Given the description of an element on the screen output the (x, y) to click on. 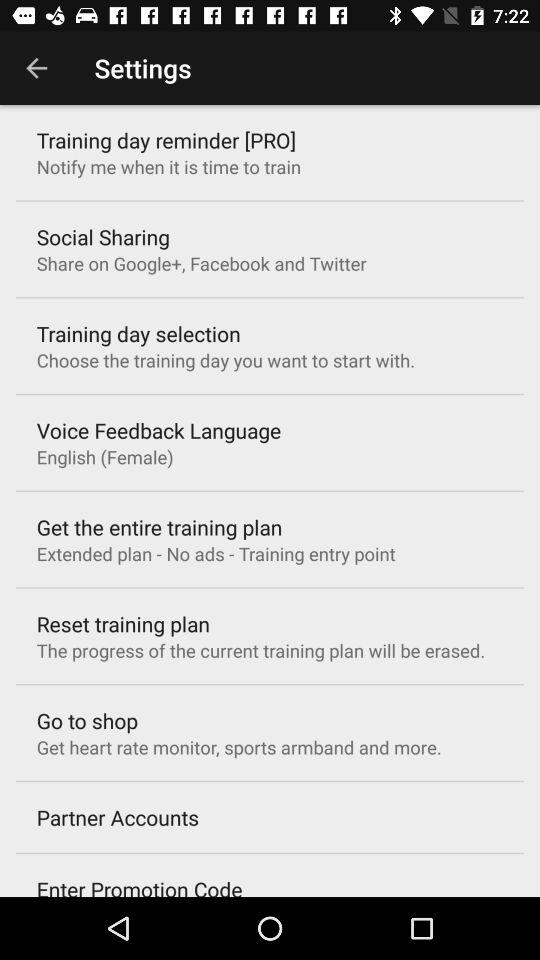
turn off voice feedback language item (158, 430)
